Given the description of an element on the screen output the (x, y) to click on. 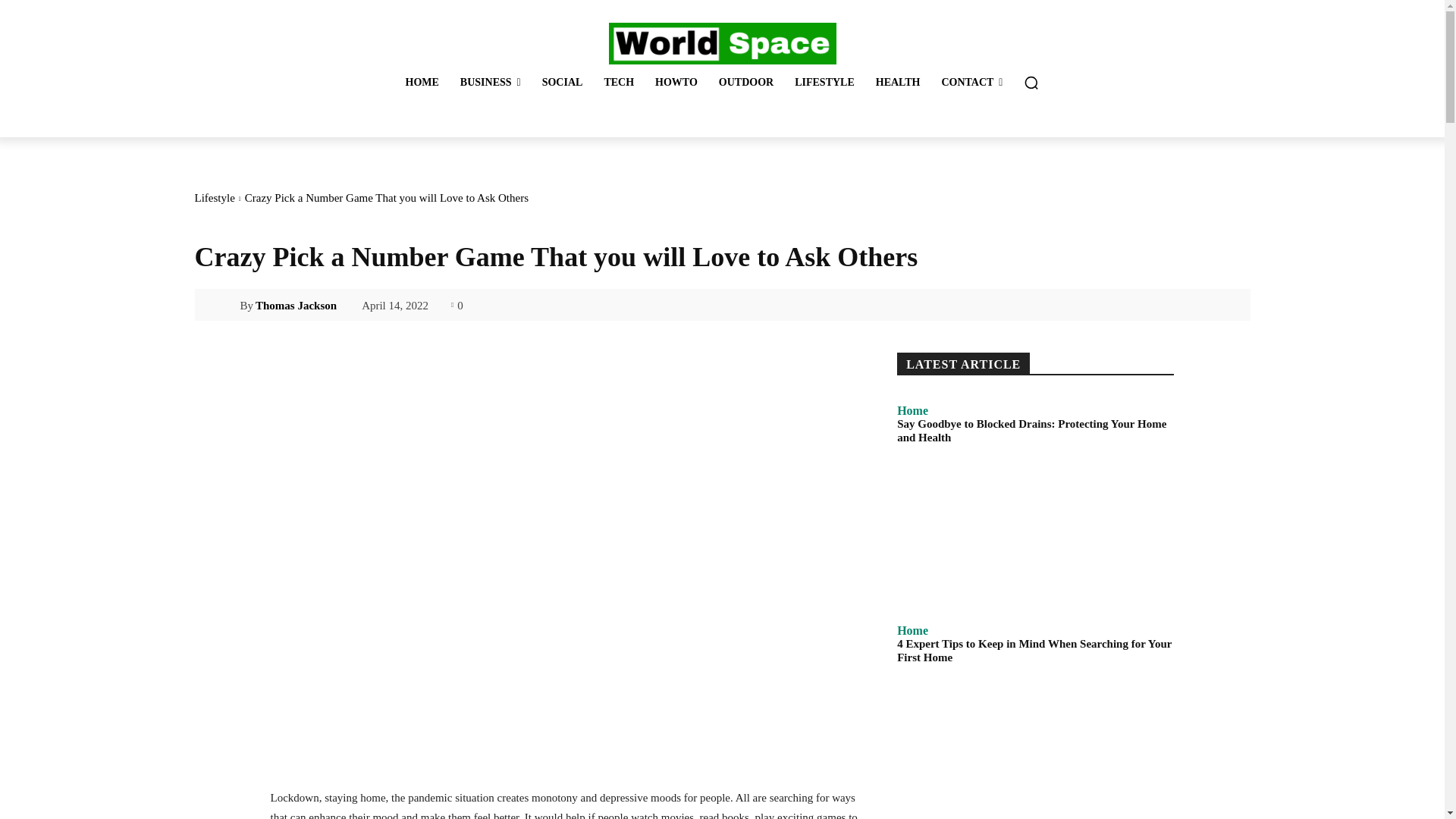
OUTDOOR (745, 82)
TECH (618, 82)
Thomas Jackson (226, 305)
View all posts in Lifestyle (213, 197)
HOME (421, 82)
CONTACT (971, 82)
SOCIAL (562, 82)
BUSINESS (490, 82)
LIFESTYLE (824, 82)
HEALTH (897, 82)
